Given the description of an element on the screen output the (x, y) to click on. 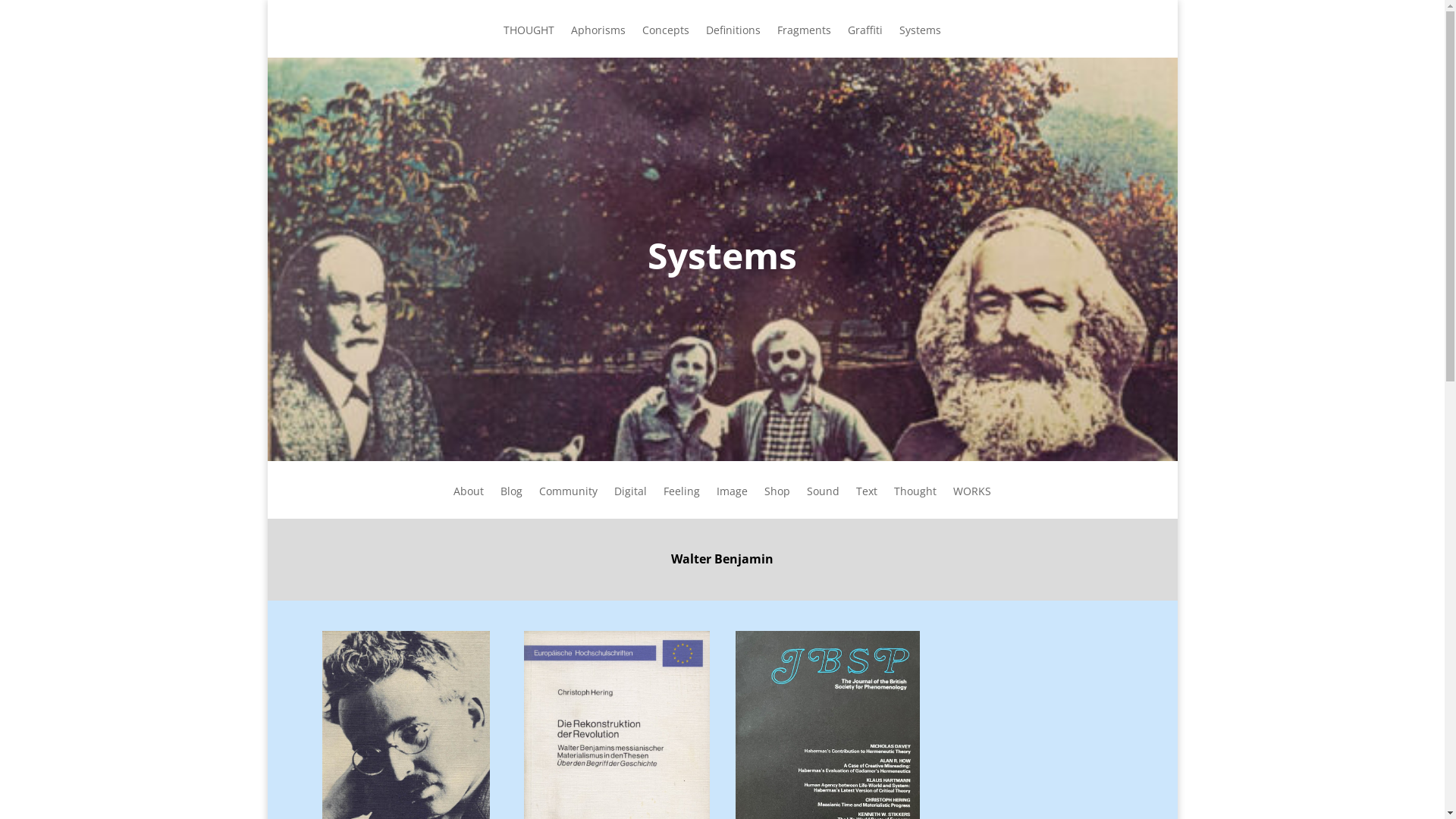
Sound Element type: text (822, 502)
Concepts Element type: text (665, 41)
Graffiti Element type: text (864, 41)
Thought Element type: text (915, 502)
Systems Element type: text (920, 41)
Community Element type: text (568, 502)
WORKS Element type: text (972, 502)
Fragments Element type: text (804, 41)
Feeling Element type: text (681, 502)
Text Element type: text (866, 502)
Definitions Element type: text (733, 41)
Blog Element type: text (511, 502)
Aphorisms Element type: text (598, 41)
About Element type: text (468, 502)
THOUGHT Element type: text (528, 41)
Shop Element type: text (777, 502)
Digital Element type: text (630, 502)
Image Element type: text (731, 502)
